Given the description of an element on the screen output the (x, y) to click on. 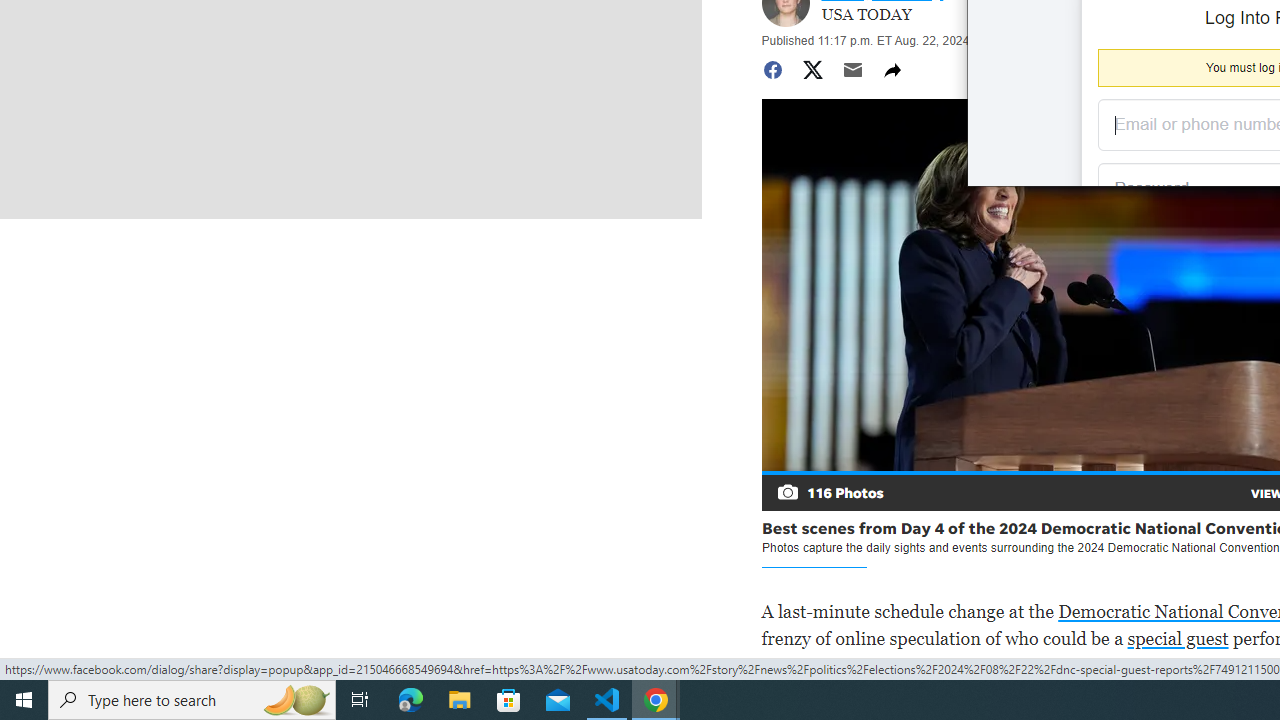
Task View (359, 699)
Share to Facebook (772, 69)
Search highlights icon opens search home window (295, 699)
special guest (1177, 637)
Google Chrome - 2 running windows (656, 699)
Type here to search (191, 699)
File Explorer (460, 699)
Visual Studio Code - 1 running window (607, 699)
Microsoft Edge (411, 699)
Share to Twitter (812, 69)
Taylor Swift (1207, 678)
Share natively (891, 69)
Microsoft Store (509, 699)
